Given the description of an element on the screen output the (x, y) to click on. 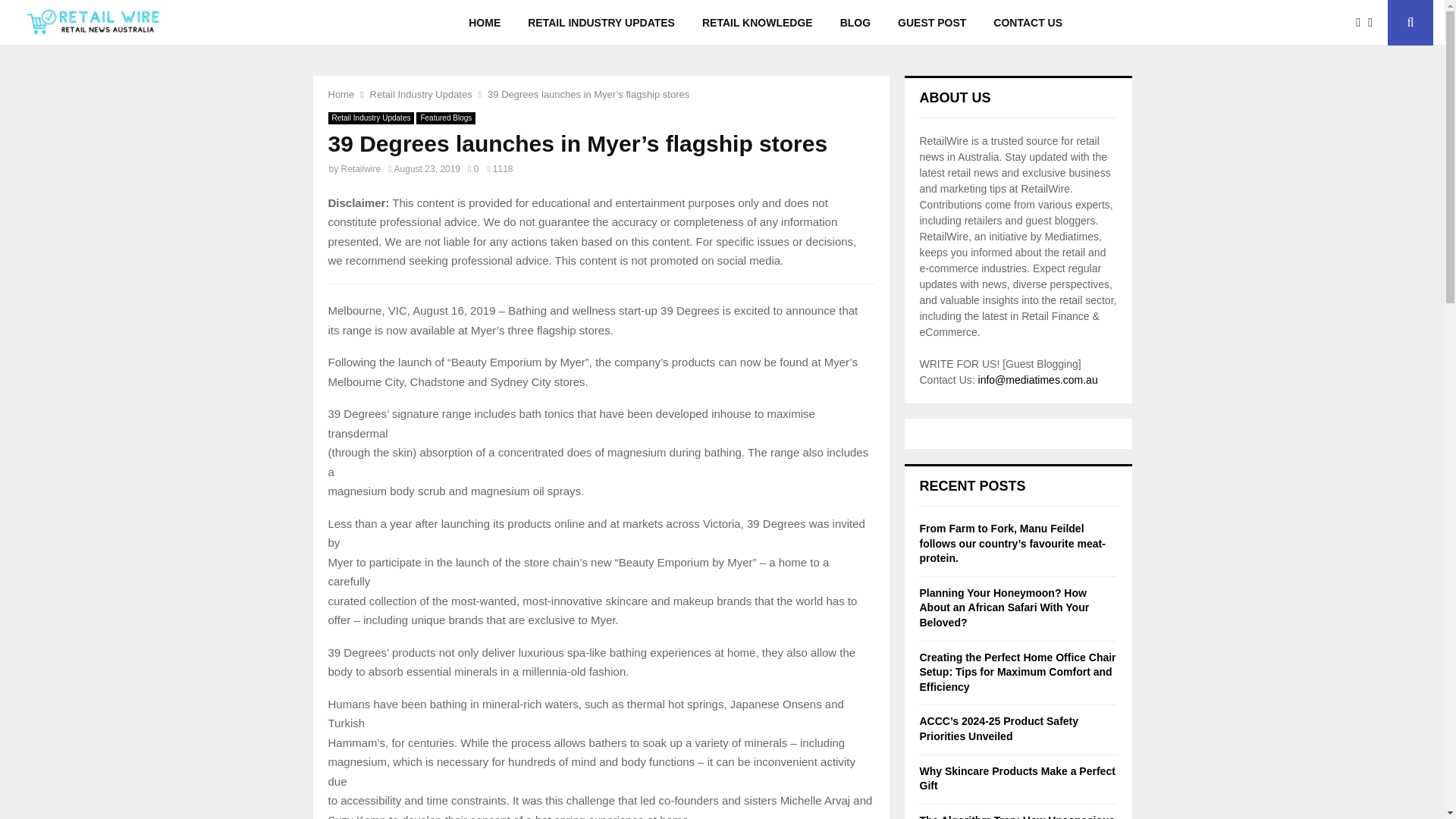
RETAIL KNOWLEDGE (757, 22)
RETAIL INDUSTRY UPDATES (600, 22)
Featured Blogs (446, 118)
HOME (483, 22)
0 (473, 168)
CONTACT US (1027, 22)
BLOG (855, 22)
Retail Industry Updates (420, 93)
Retail Industry Updates (370, 118)
Home (340, 93)
